Given the description of an element on the screen output the (x, y) to click on. 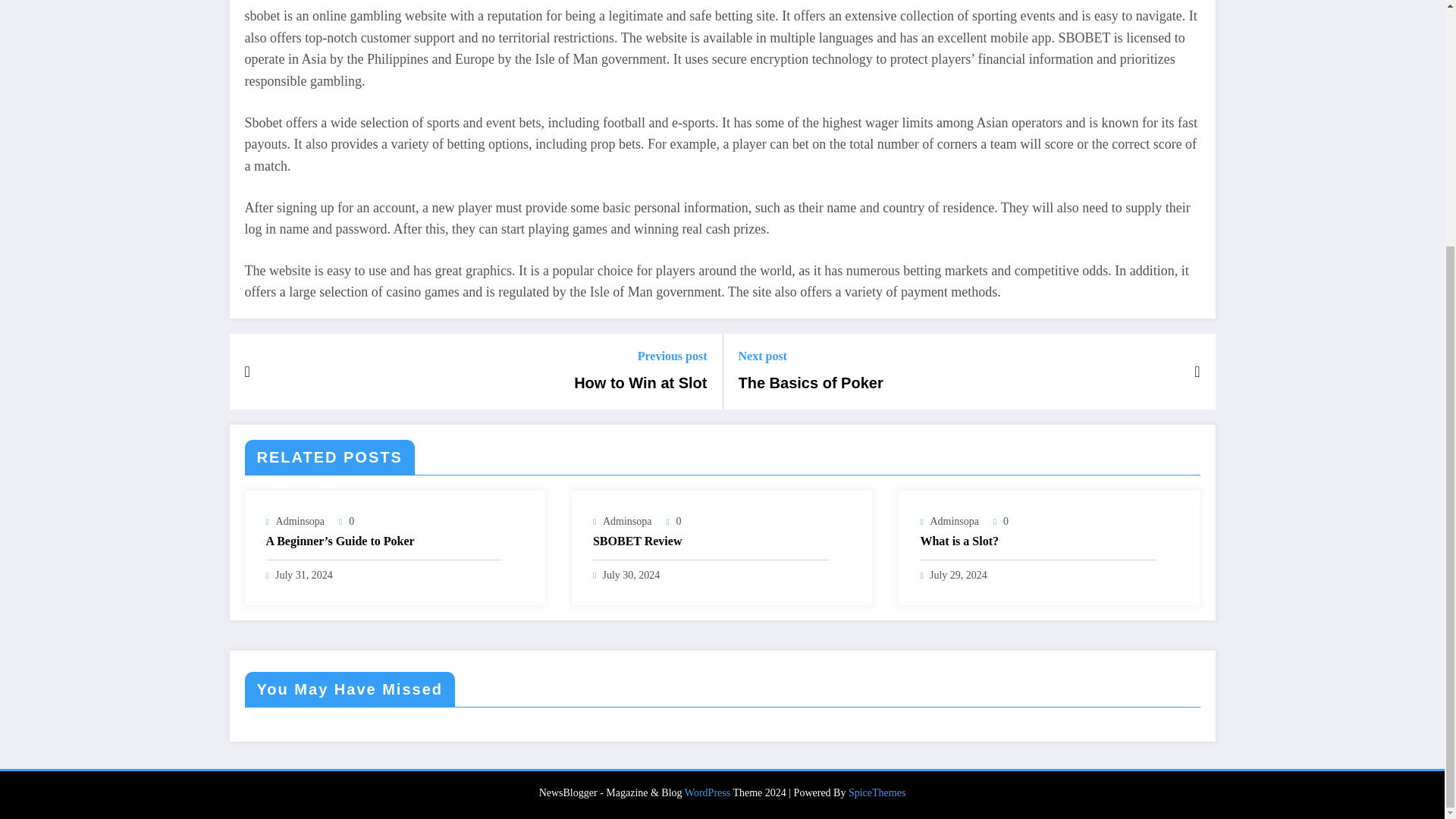
Adminsopa (627, 521)
How to Win at Slot (639, 382)
The Basics of Poker (810, 382)
SBOBET Review (710, 541)
July 30, 2024 (630, 574)
Previous post (639, 355)
Next post (810, 355)
How to Win at Slot (639, 382)
Previous post (639, 355)
Adminsopa (300, 521)
July 31, 2024 (304, 574)
Adminsopa (954, 521)
What is a Slot? (1038, 541)
